Given the description of an element on the screen output the (x, y) to click on. 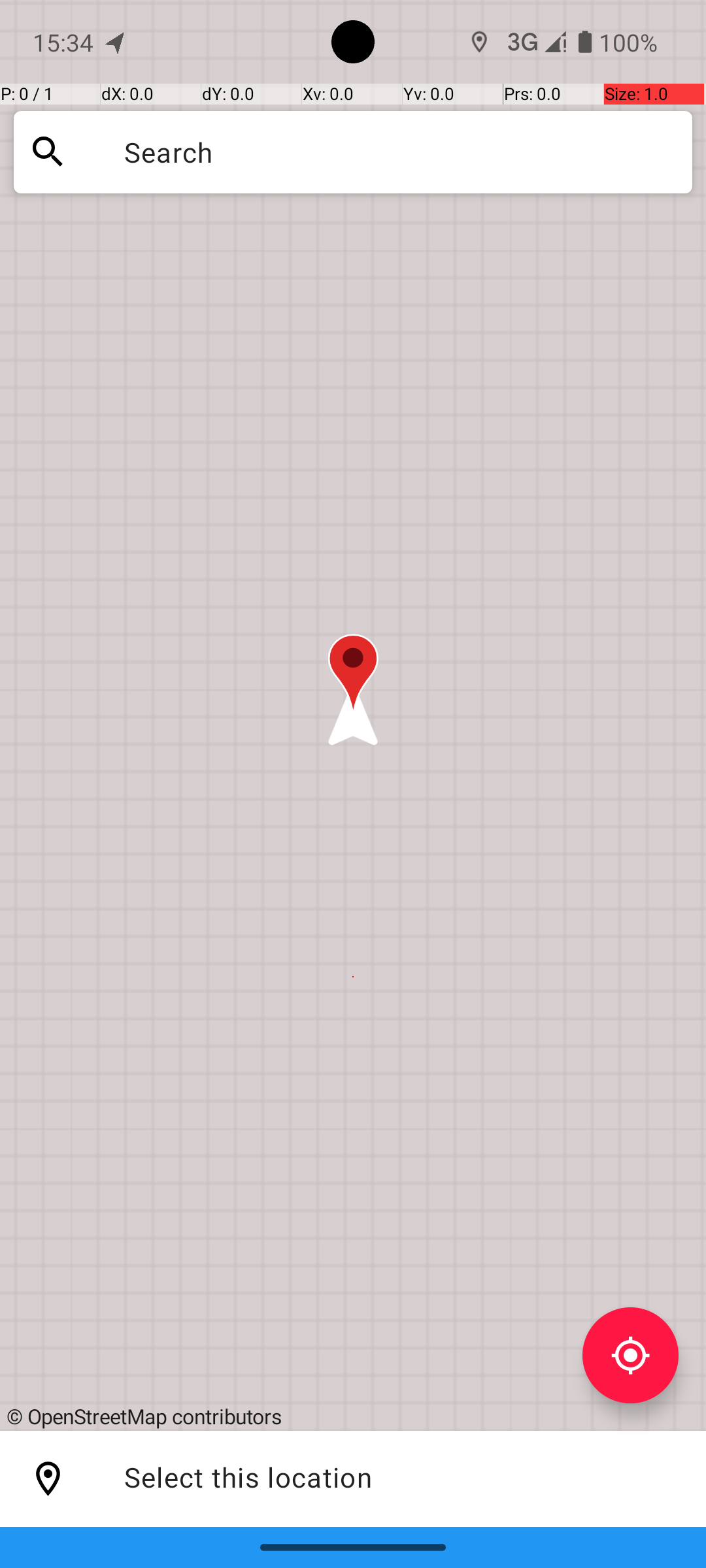
Select this location Element type: android.widget.ImageView (47, 1478)
